Given the description of an element on the screen output the (x, y) to click on. 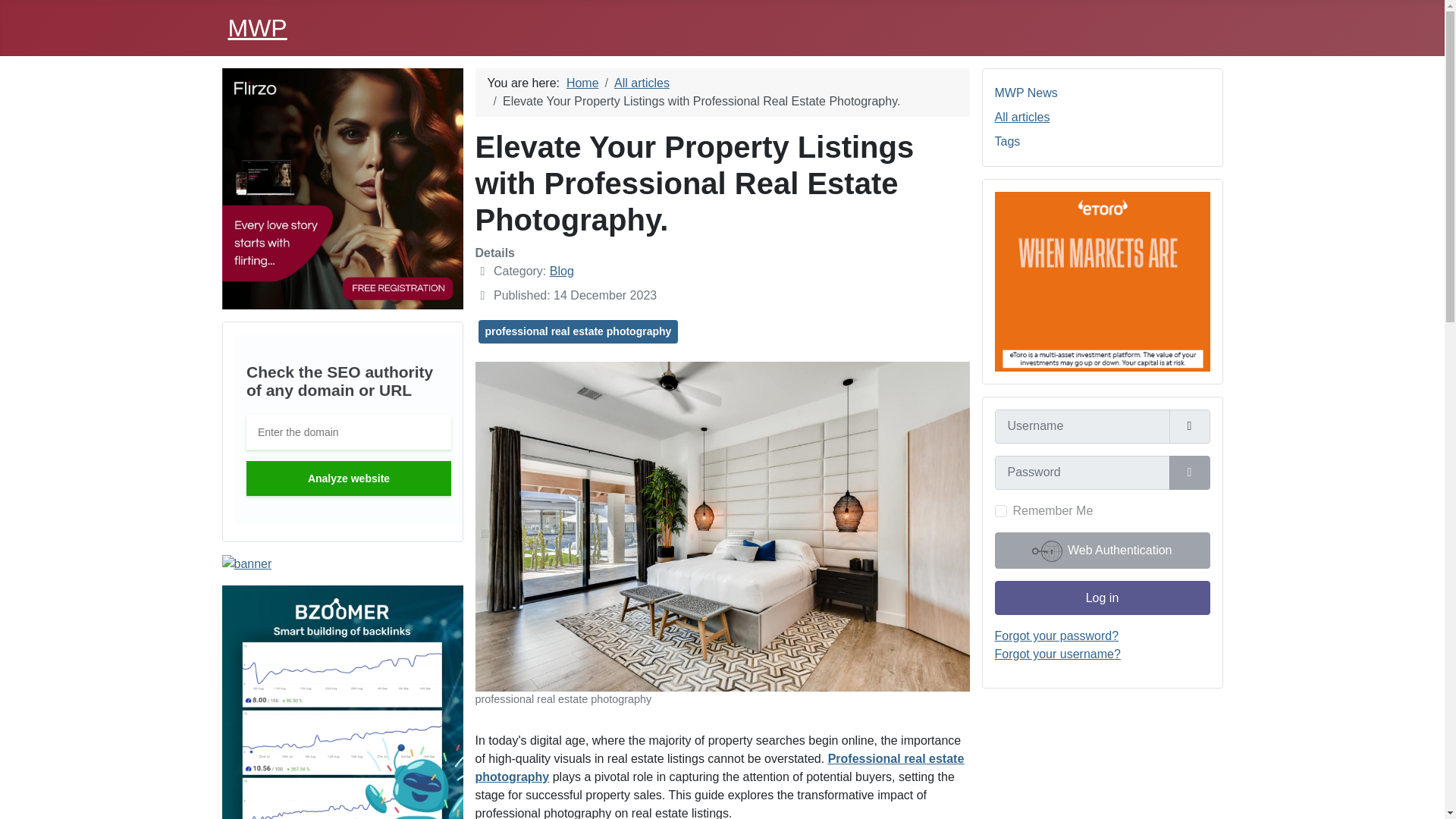
Forgot your password? (1056, 635)
Username (1189, 426)
Tags (1007, 141)
Forgot your username? (1057, 653)
MWP News (1026, 92)
All articles (641, 82)
Web Authentication (1101, 550)
MWP (256, 27)
All articles (1021, 116)
yes (1000, 510)
